Given the description of an element on the screen output the (x, y) to click on. 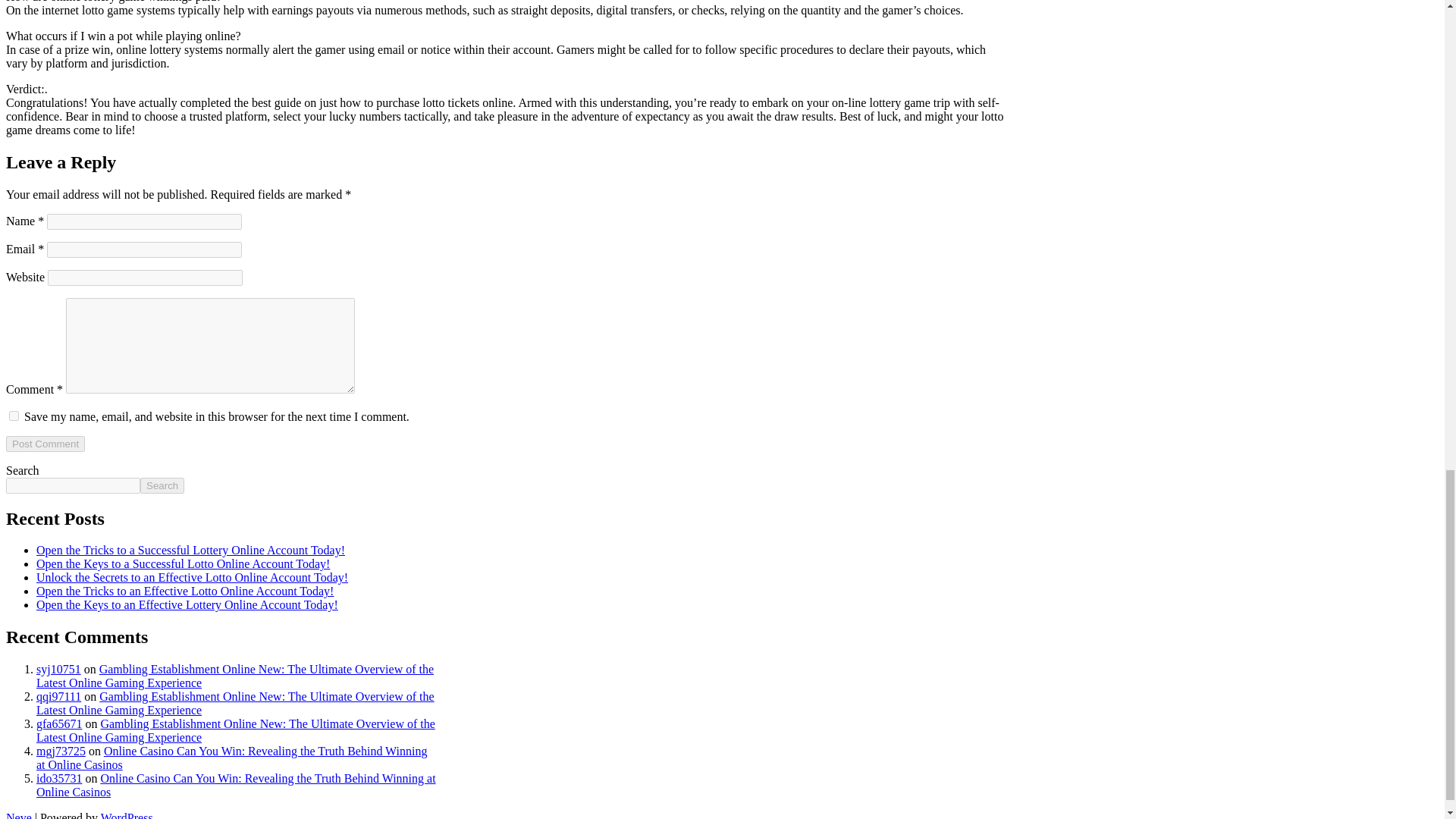
ido35731 (58, 778)
Search (161, 485)
Post Comment (44, 443)
gfa65671 (58, 723)
syj10751 (58, 668)
Open the Tricks to an Effective Lotto Online Account Today! (184, 590)
